Given the description of an element on the screen output the (x, y) to click on. 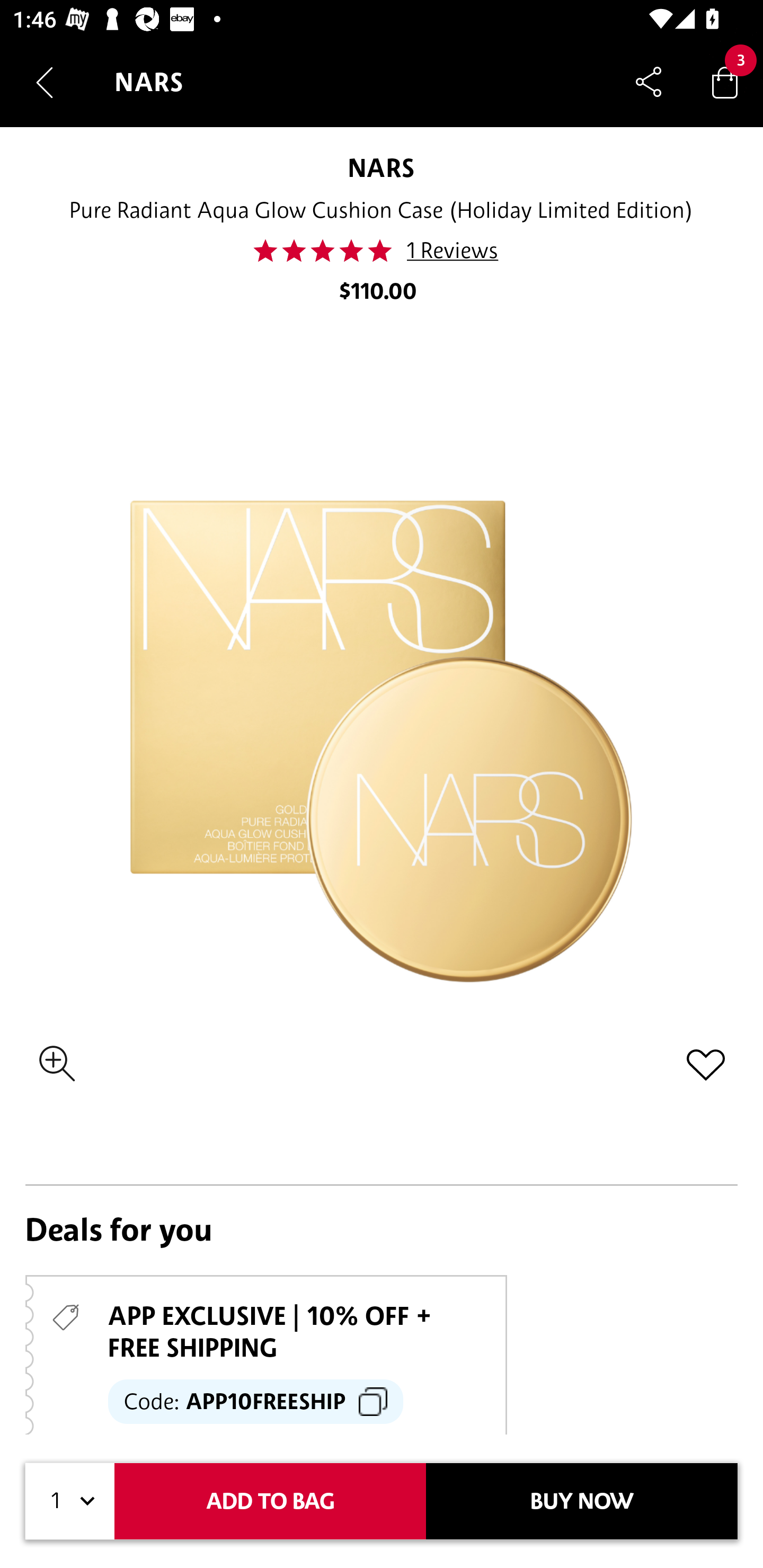
Navigate up (44, 82)
Share (648, 81)
Bag (724, 81)
NARS (380, 167)
50.0 1 Reviews (381, 250)
1 (69, 1500)
ADD TO BAG (269, 1500)
BUY NOW (581, 1500)
